Given the description of an element on the screen output the (x, y) to click on. 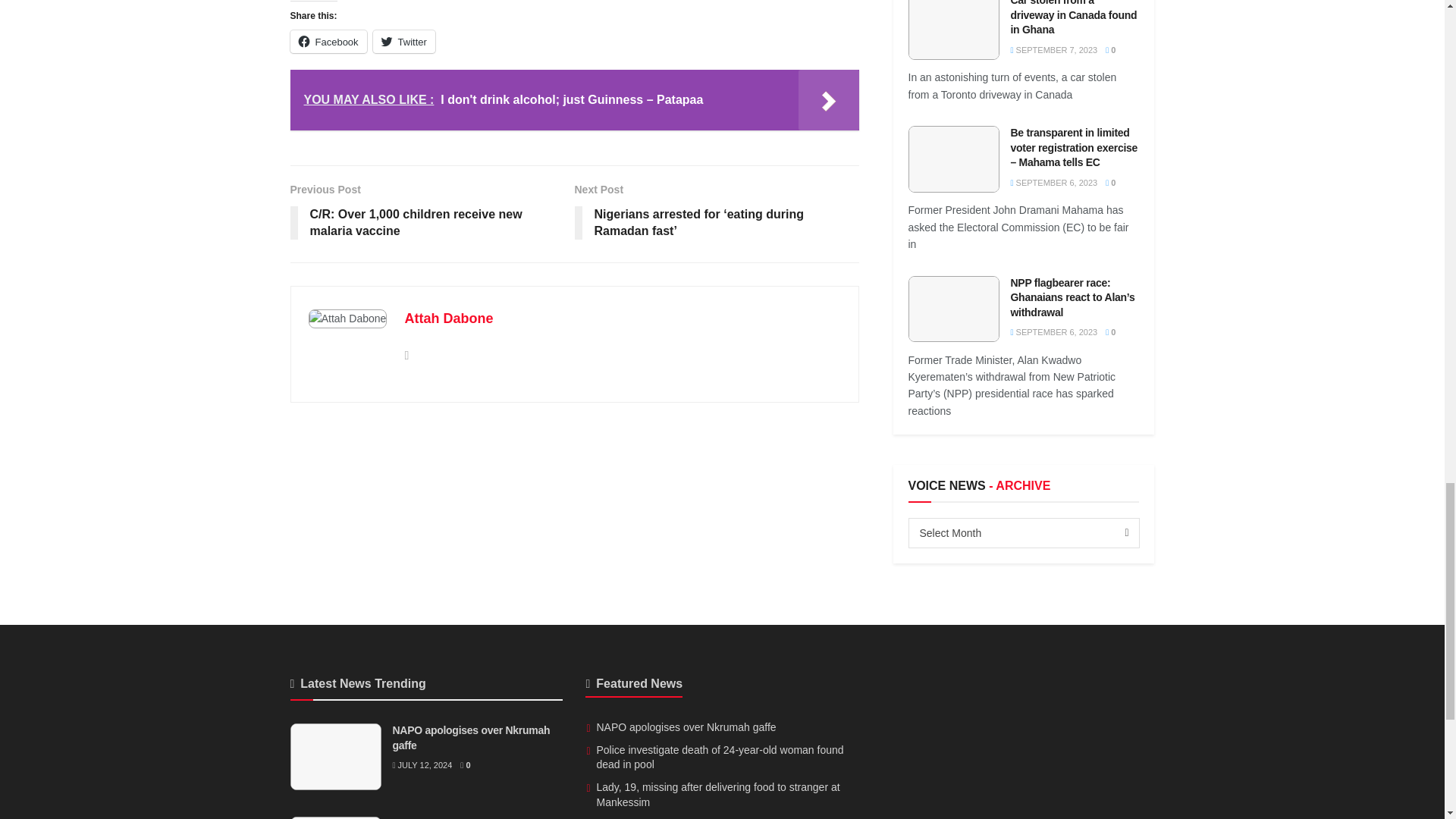
Click to share on Twitter (403, 41)
Click to share on Facebook (327, 41)
